Given the description of an element on the screen output the (x, y) to click on. 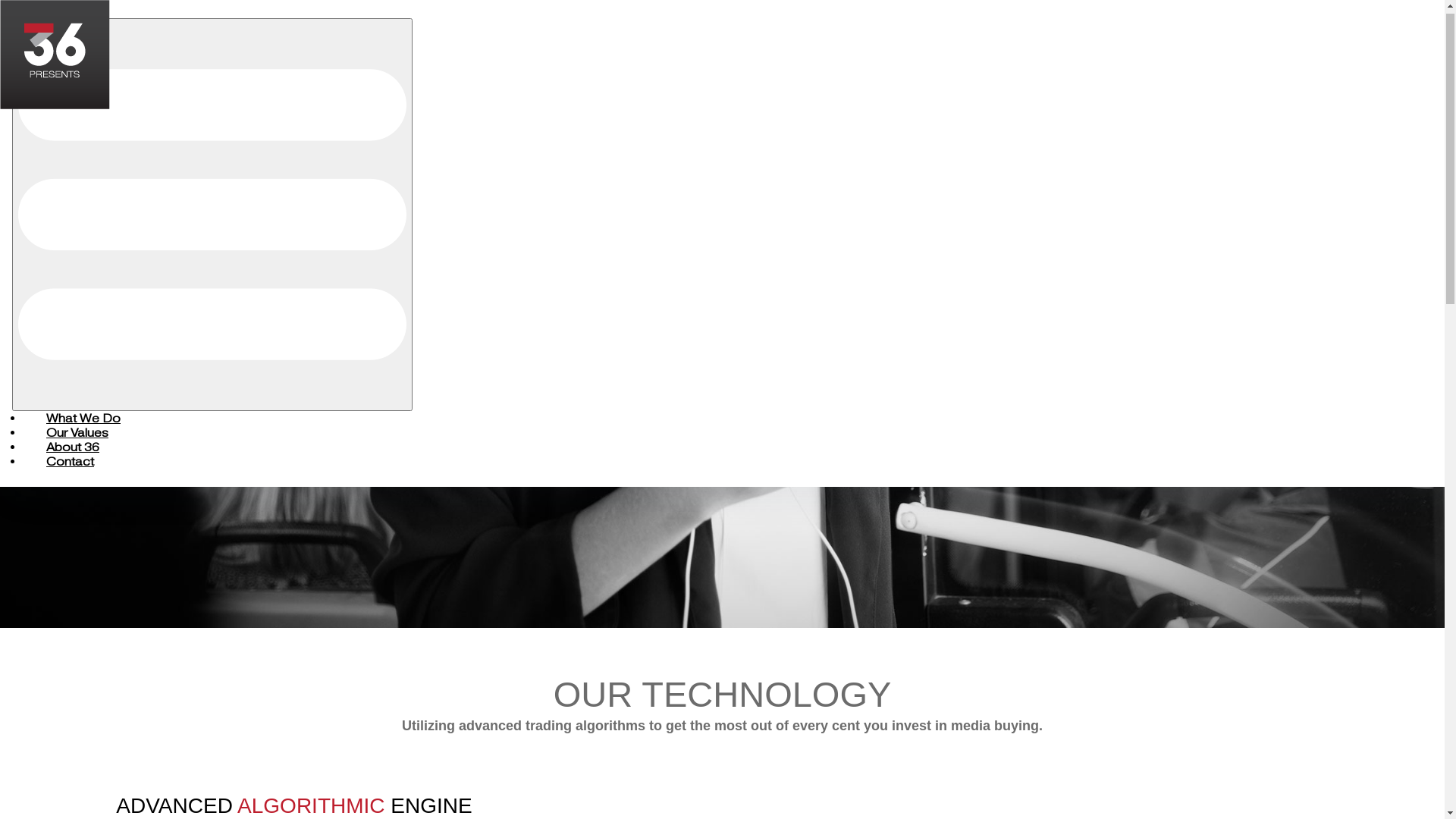
What We Do Element type: text (79, 426)
About 36 Element type: text (68, 454)
Our Values Element type: text (73, 440)
Contact Element type: text (66, 469)
